Given the description of an element on the screen output the (x, y) to click on. 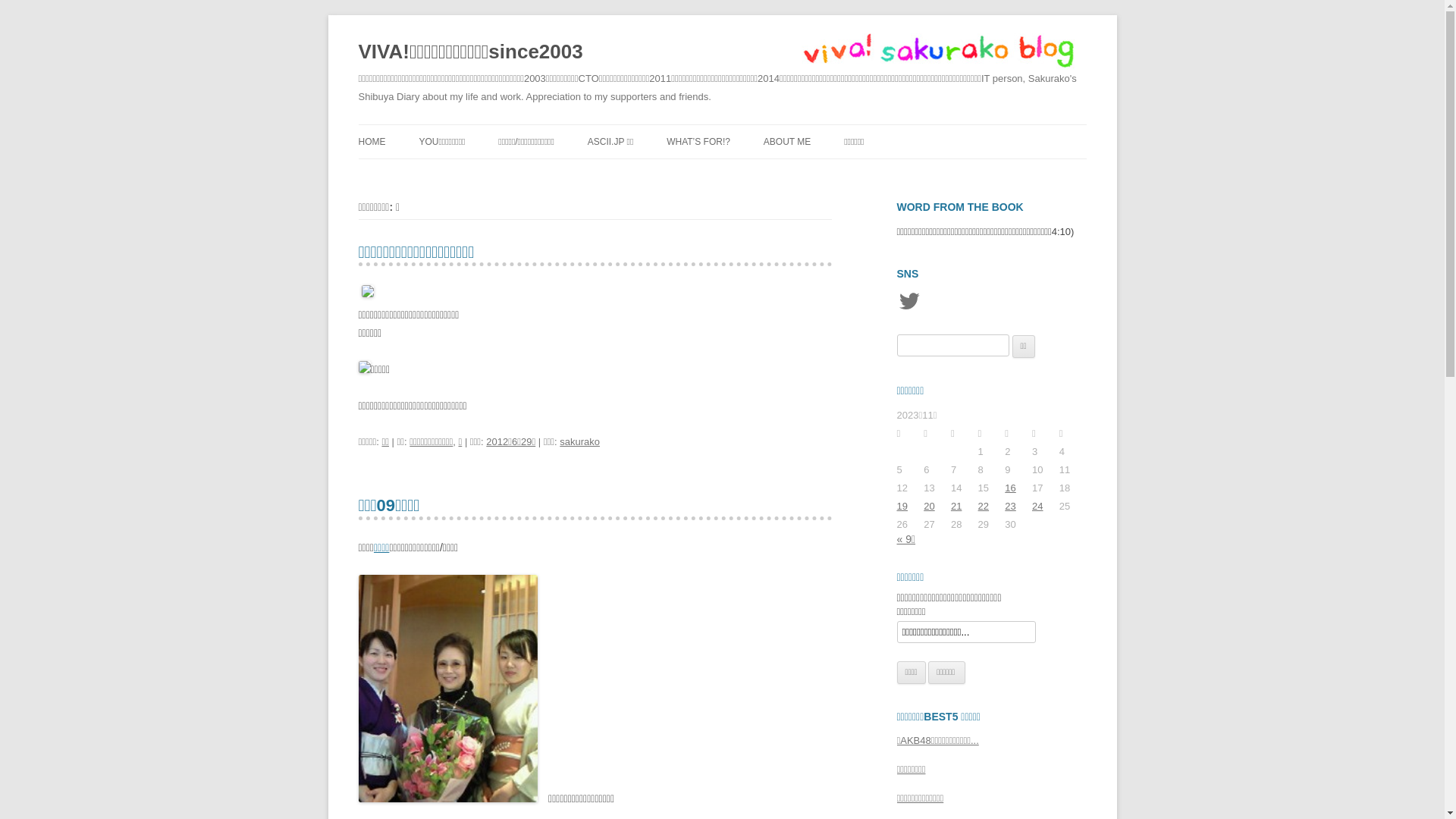
16 Element type: text (1009, 487)
sakurako Element type: text (579, 441)
HOME Element type: text (371, 141)
22 Element type: text (983, 505)
19 Element type: text (901, 505)
ABOUT ME Element type: text (786, 141)
21 Element type: text (955, 505)
Twitter Element type: text (908, 300)
23 Element type: text (1009, 505)
24 Element type: text (1037, 505)
20 Element type: text (928, 505)
